Given the description of an element on the screen output the (x, y) to click on. 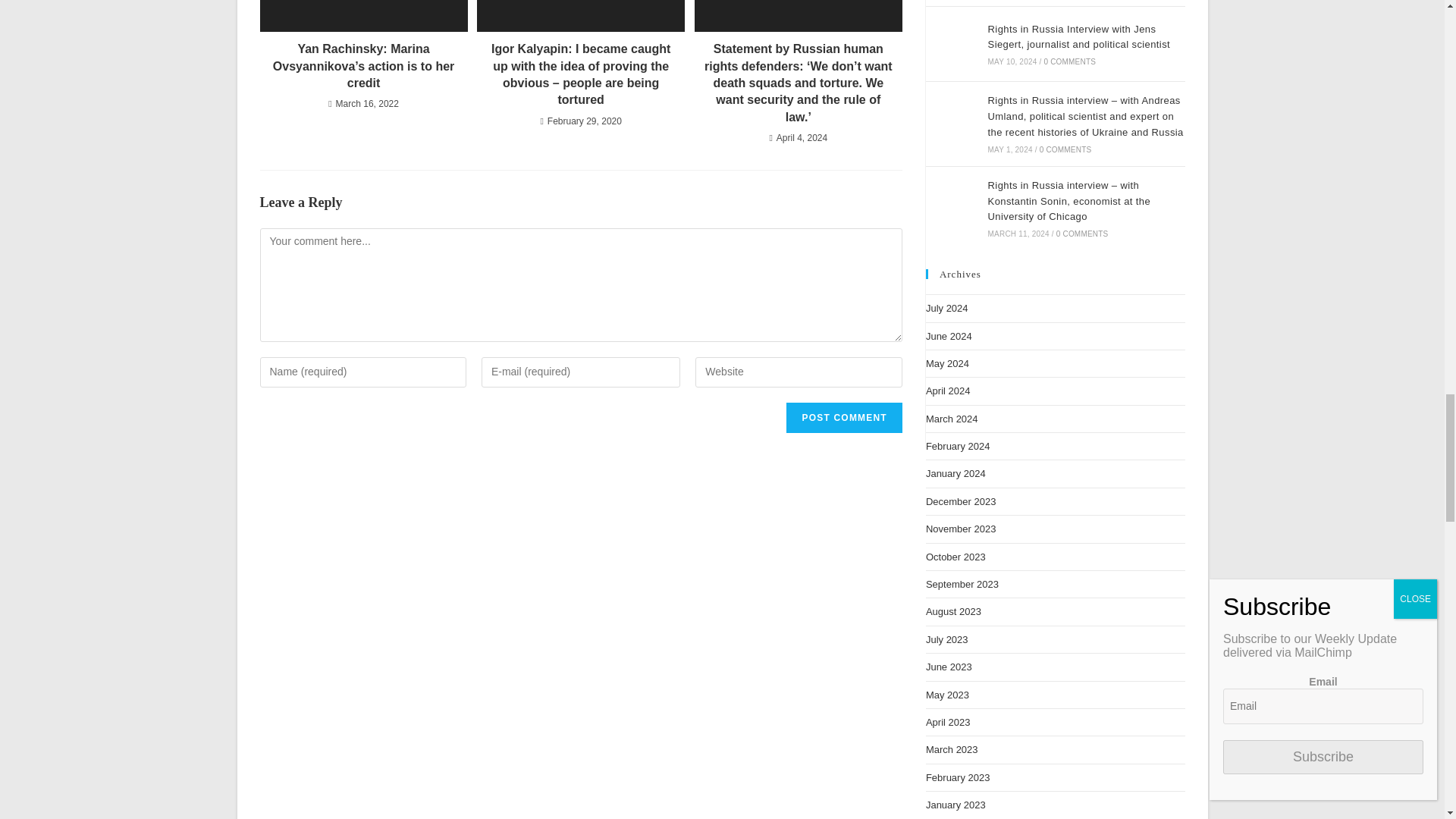
Post Comment (843, 417)
